Given the description of an element on the screen output the (x, y) to click on. 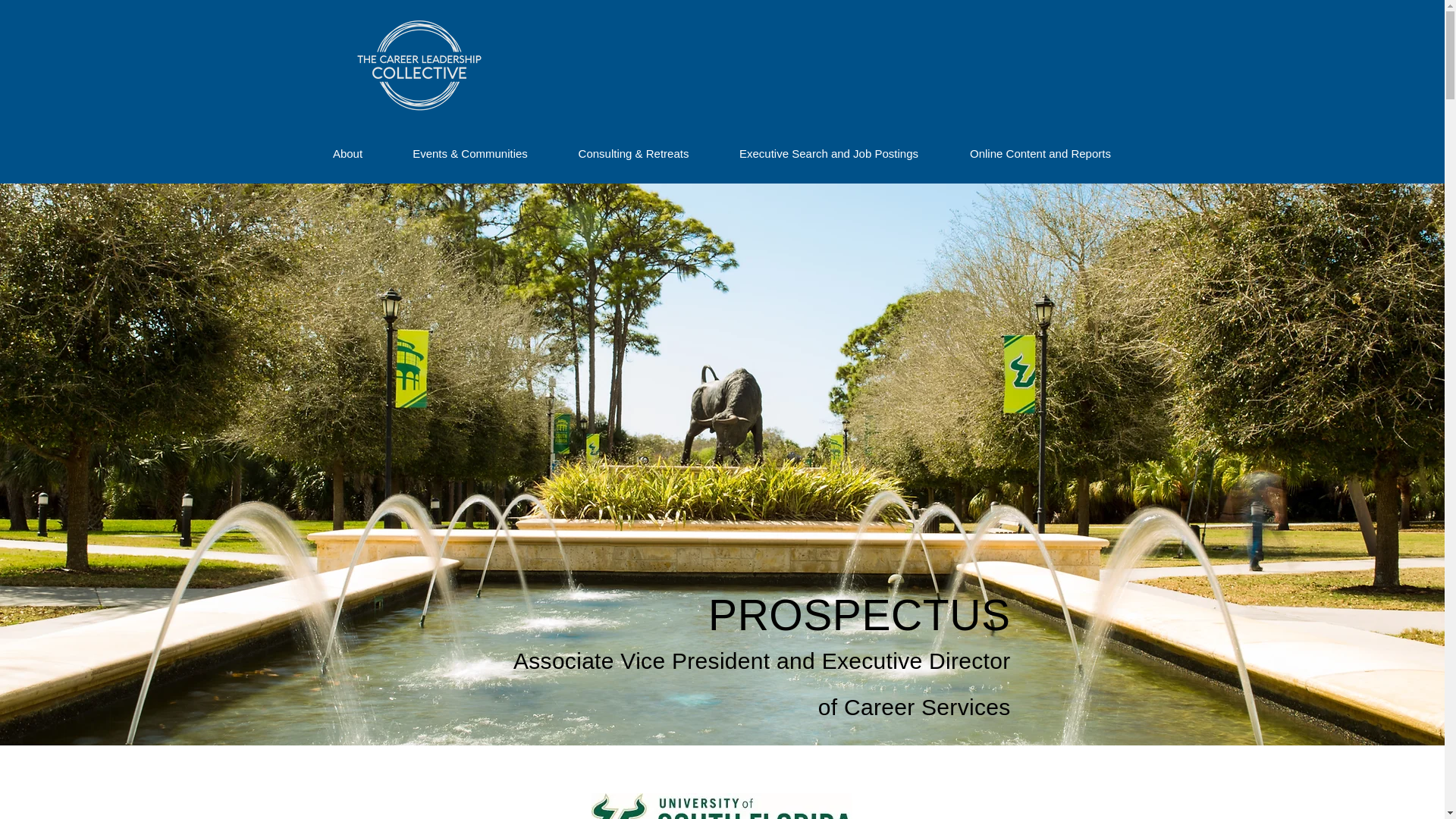
Online Content and Reports (1040, 153)
Executive Search and Job Postings (828, 153)
About (347, 153)
The Career Leadership Collective (418, 64)
